Given the description of an element on the screen output the (x, y) to click on. 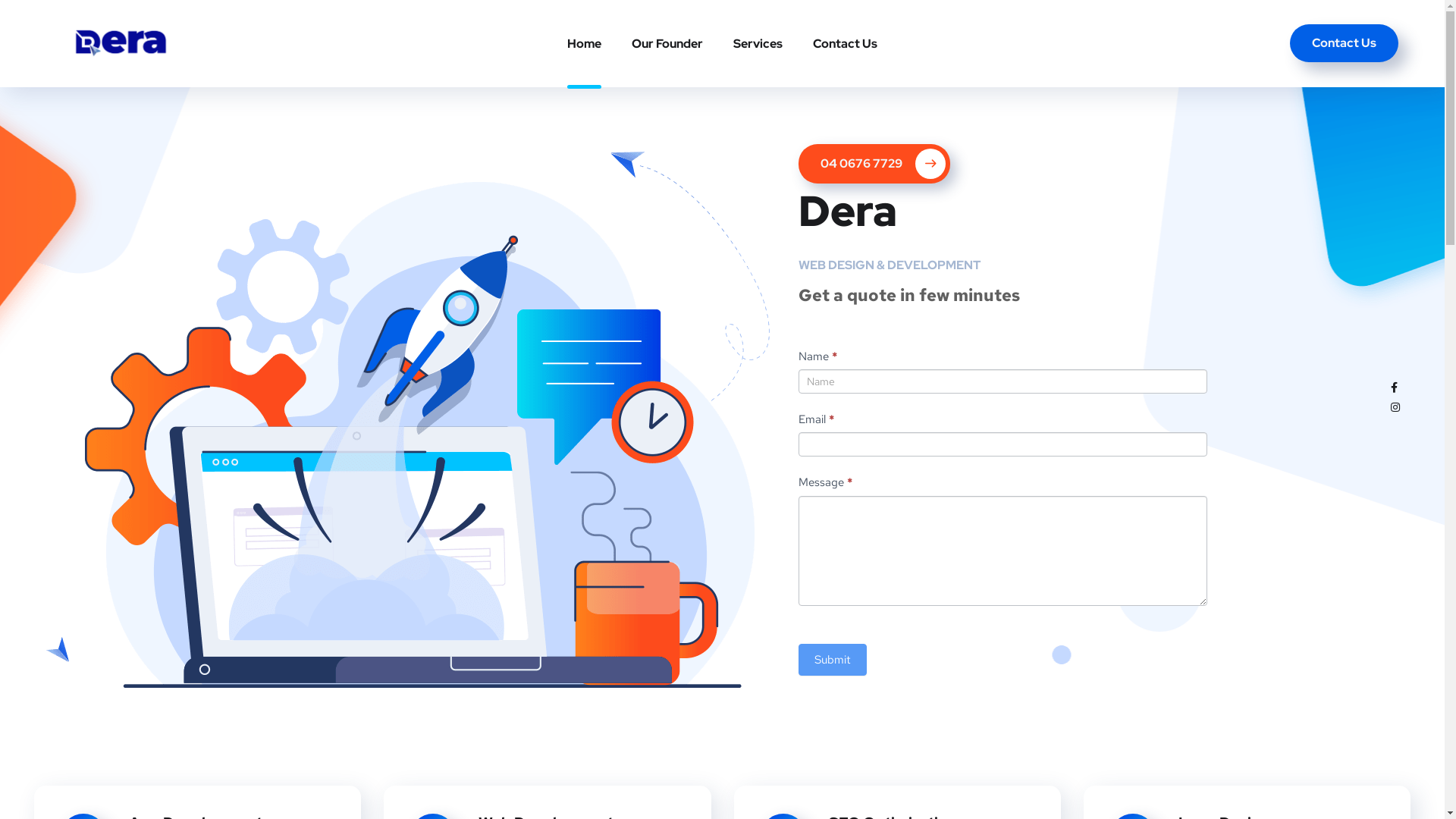
Contact Us Element type: text (1343, 43)
Submit Element type: text (832, 659)
04 0676 7729 Element type: text (874, 163)
Services Element type: text (757, 43)
Contact Us Element type: text (844, 43)
Home Element type: text (584, 43)
Our Founder Element type: text (666, 43)
